Given the description of an element on the screen output the (x, y) to click on. 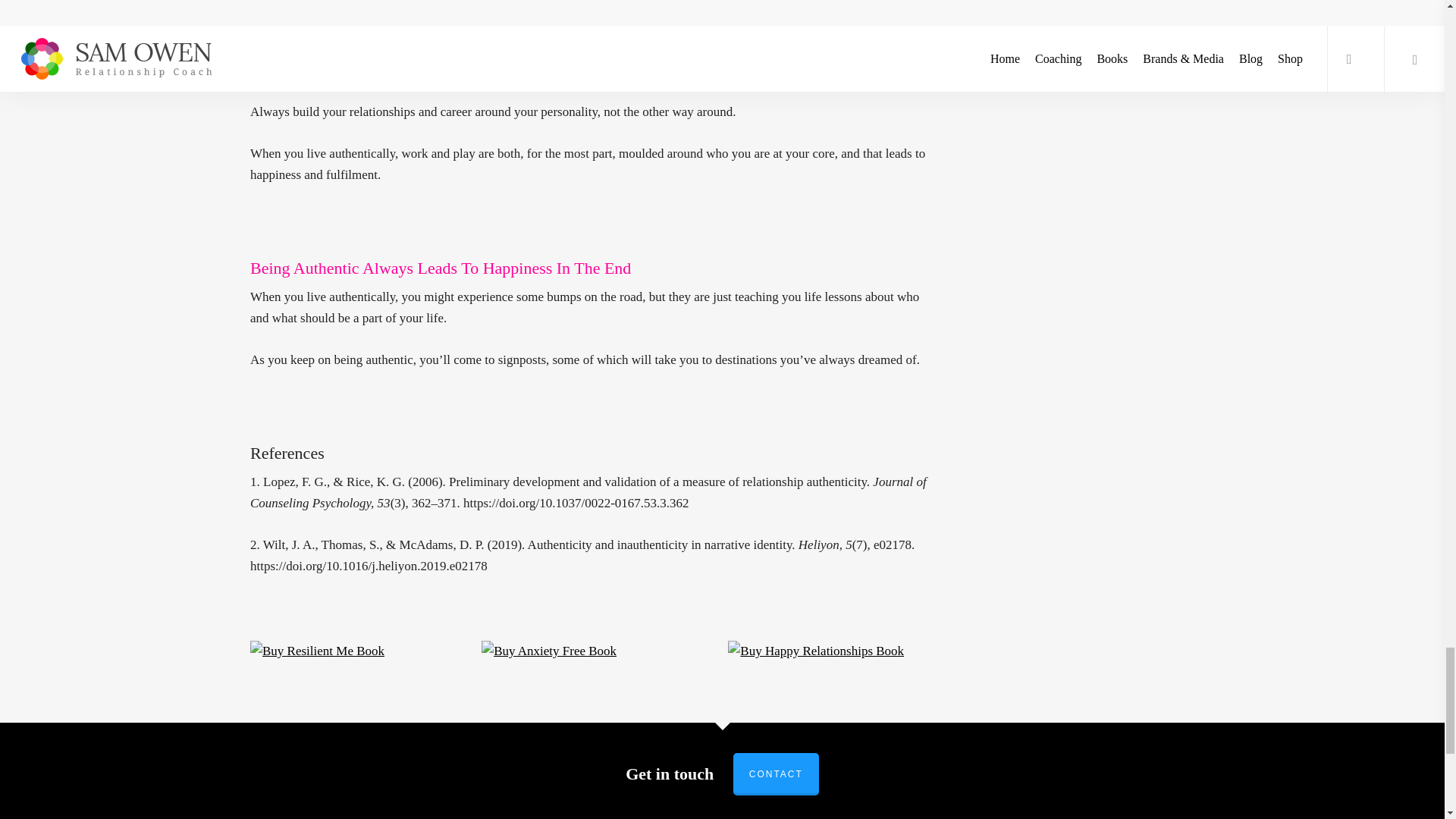
Buy Anxiety Free Book (548, 650)
Buy Happy Relationships Book (816, 650)
Buy Resilient Me Book (317, 650)
